Given the description of an element on the screen output the (x, y) to click on. 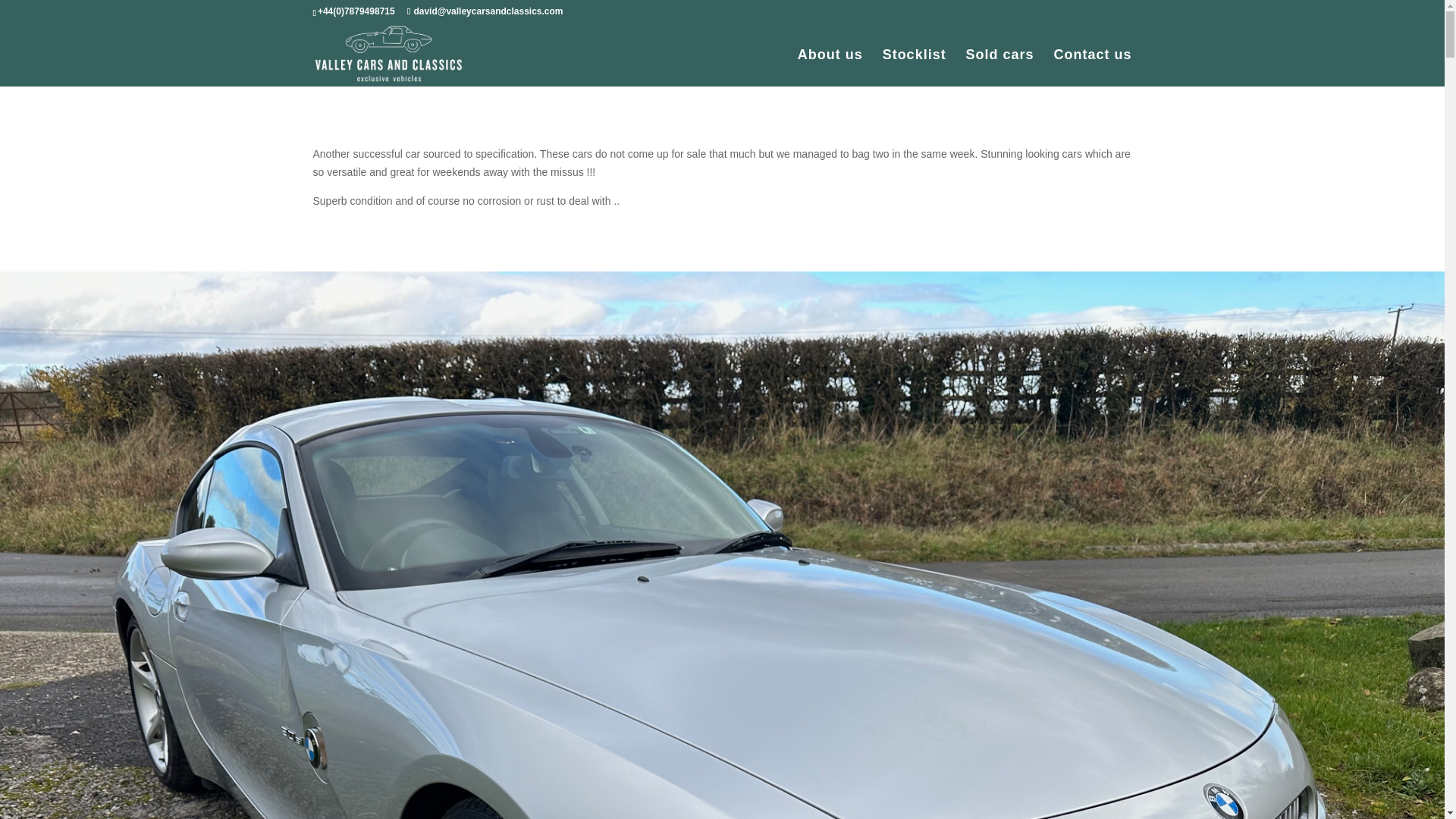
Sold cars (999, 67)
About us (830, 67)
Contact us (1091, 67)
Stocklist (914, 67)
